Given the description of an element on the screen output the (x, y) to click on. 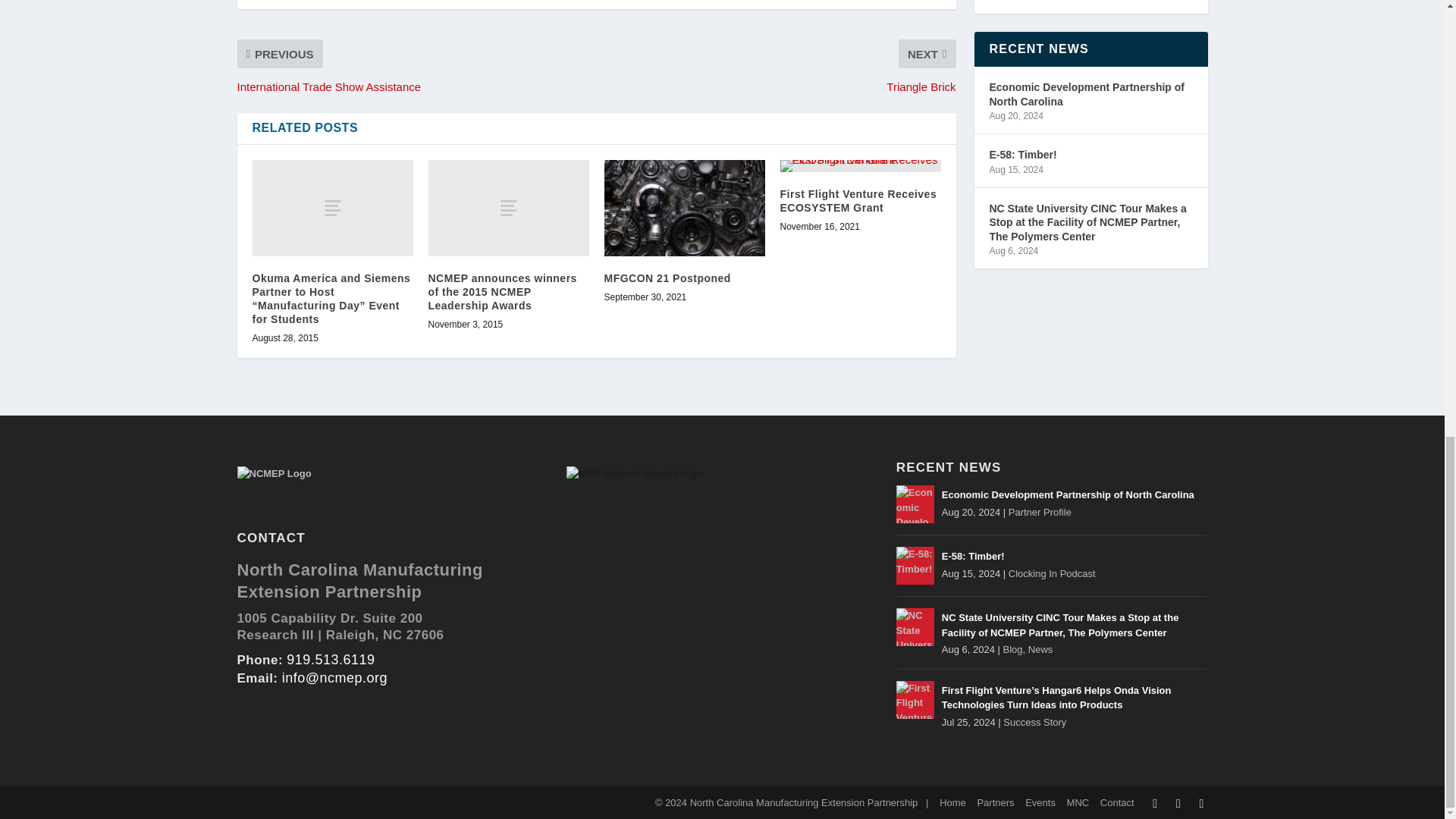
MFGCON 21 Postponed (684, 207)
NCMEP announces winners of the 2015 NCMEP Leadership Awards (508, 207)
